Given the description of an element on the screen output the (x, y) to click on. 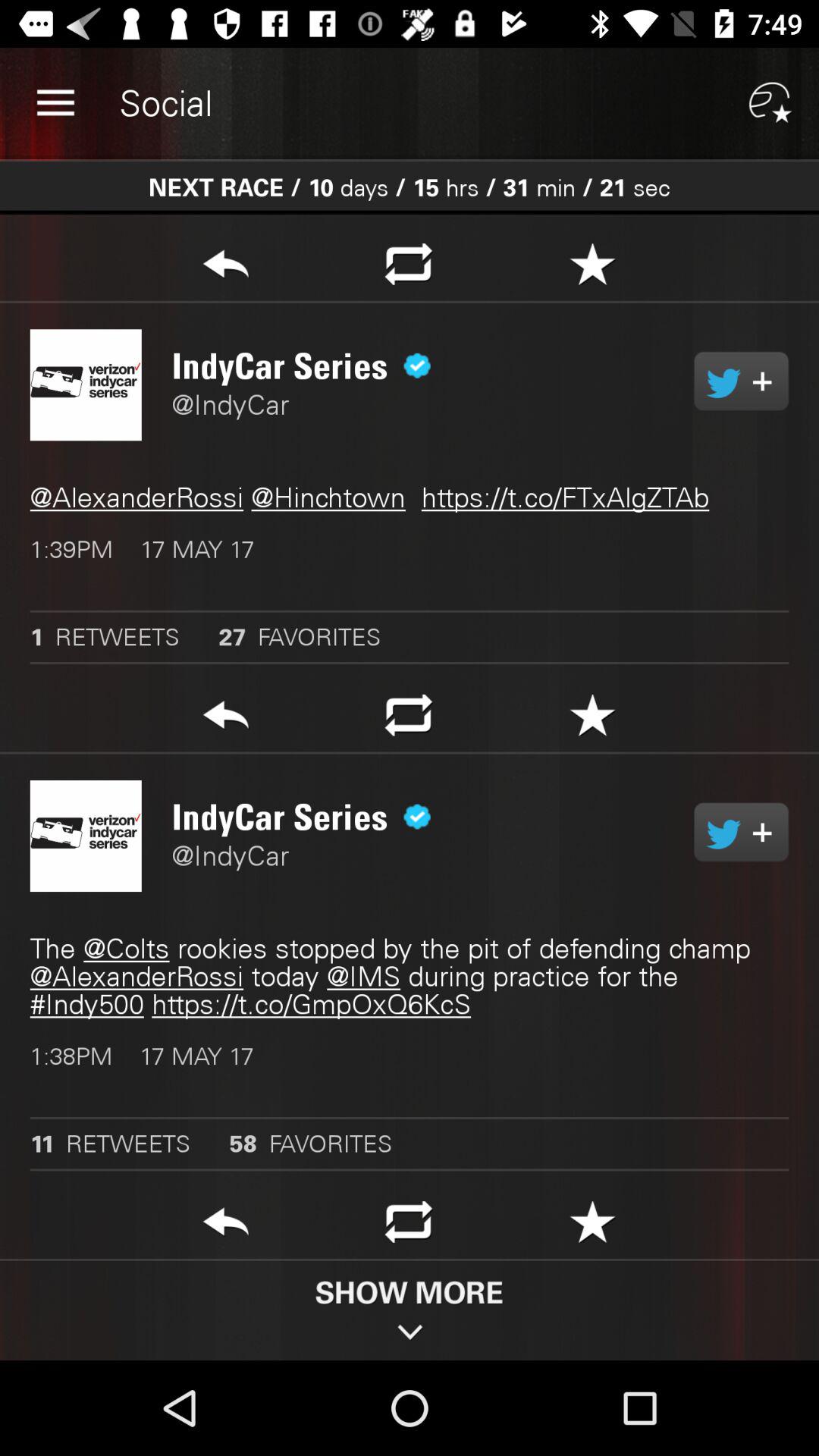
go back (225, 1226)
